Given the description of an element on the screen output the (x, y) to click on. 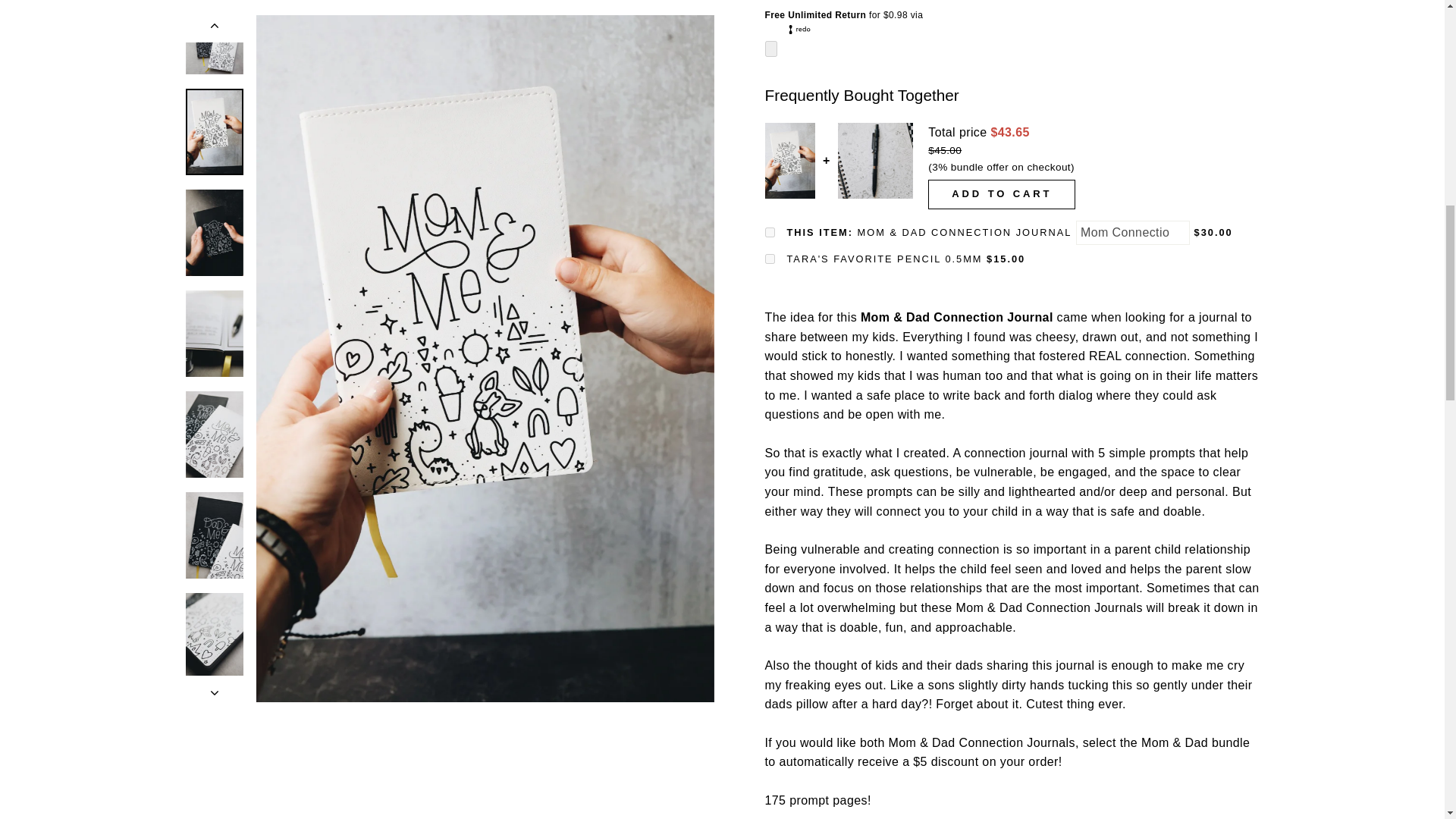
on (769, 258)
icon-chevron (214, 30)
on (769, 232)
